Given the description of an element on the screen output the (x, y) to click on. 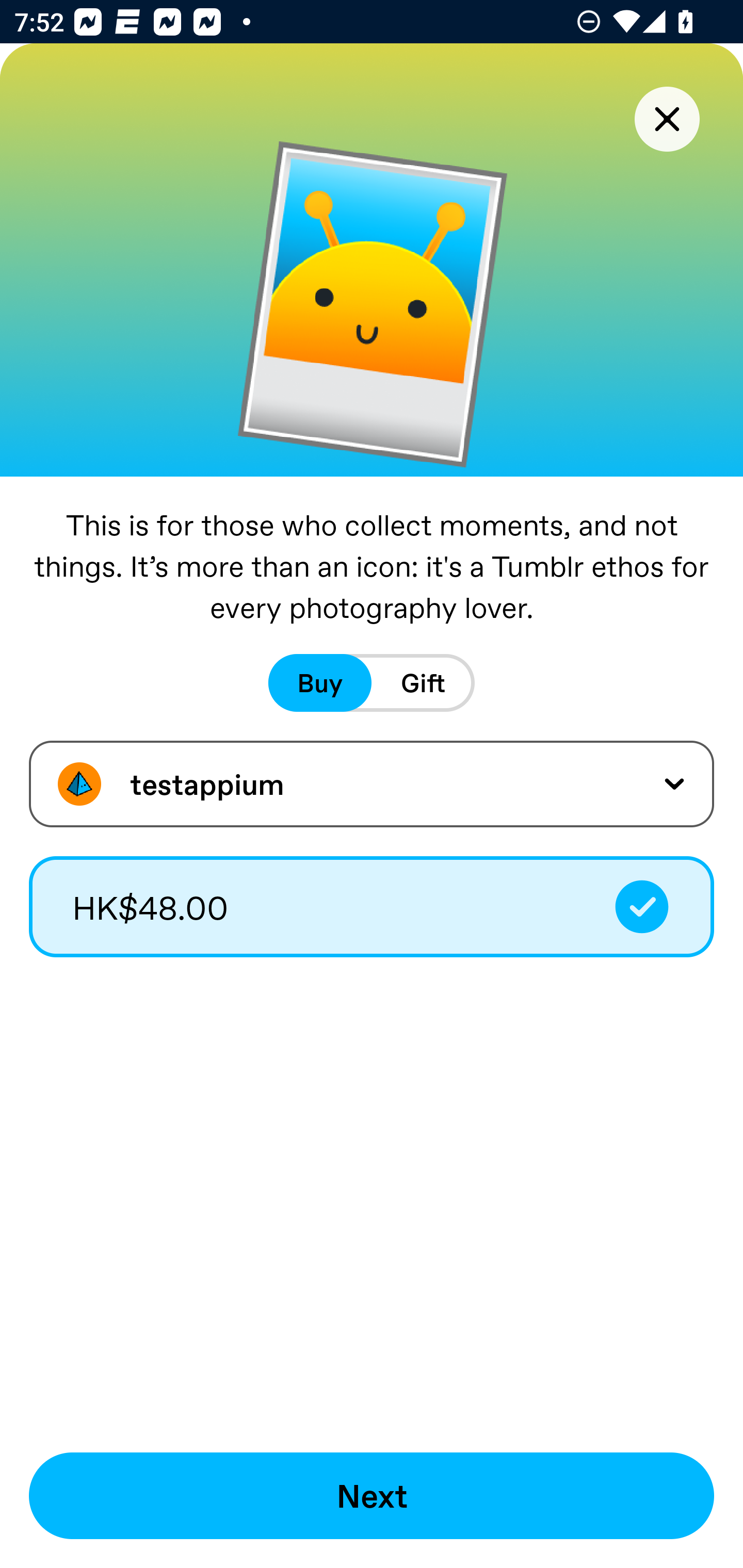
Buy (319, 682)
Gift (423, 682)
testappium (371, 783)
Next (371, 1495)
